Given the description of an element on the screen output the (x, y) to click on. 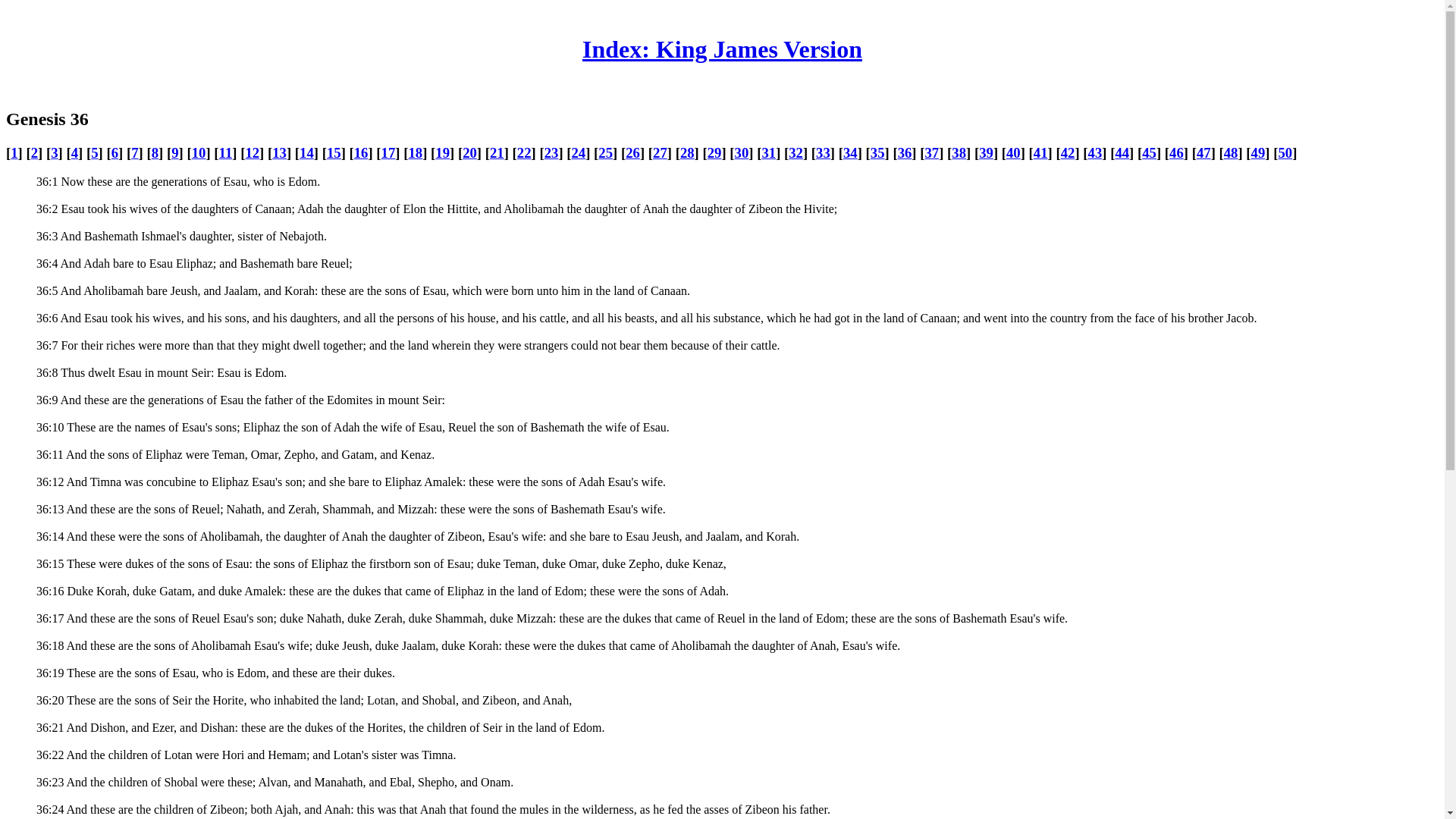
36 (905, 152)
39 (985, 152)
23 (551, 152)
13 (279, 152)
28 (686, 152)
14 (306, 152)
12 (251, 152)
34 (850, 152)
16 (360, 152)
21 (496, 152)
Index: King James Version (721, 49)
35 (877, 152)
29 (714, 152)
22 (523, 152)
37 (931, 152)
